Given the description of an element on the screen output the (x, y) to click on. 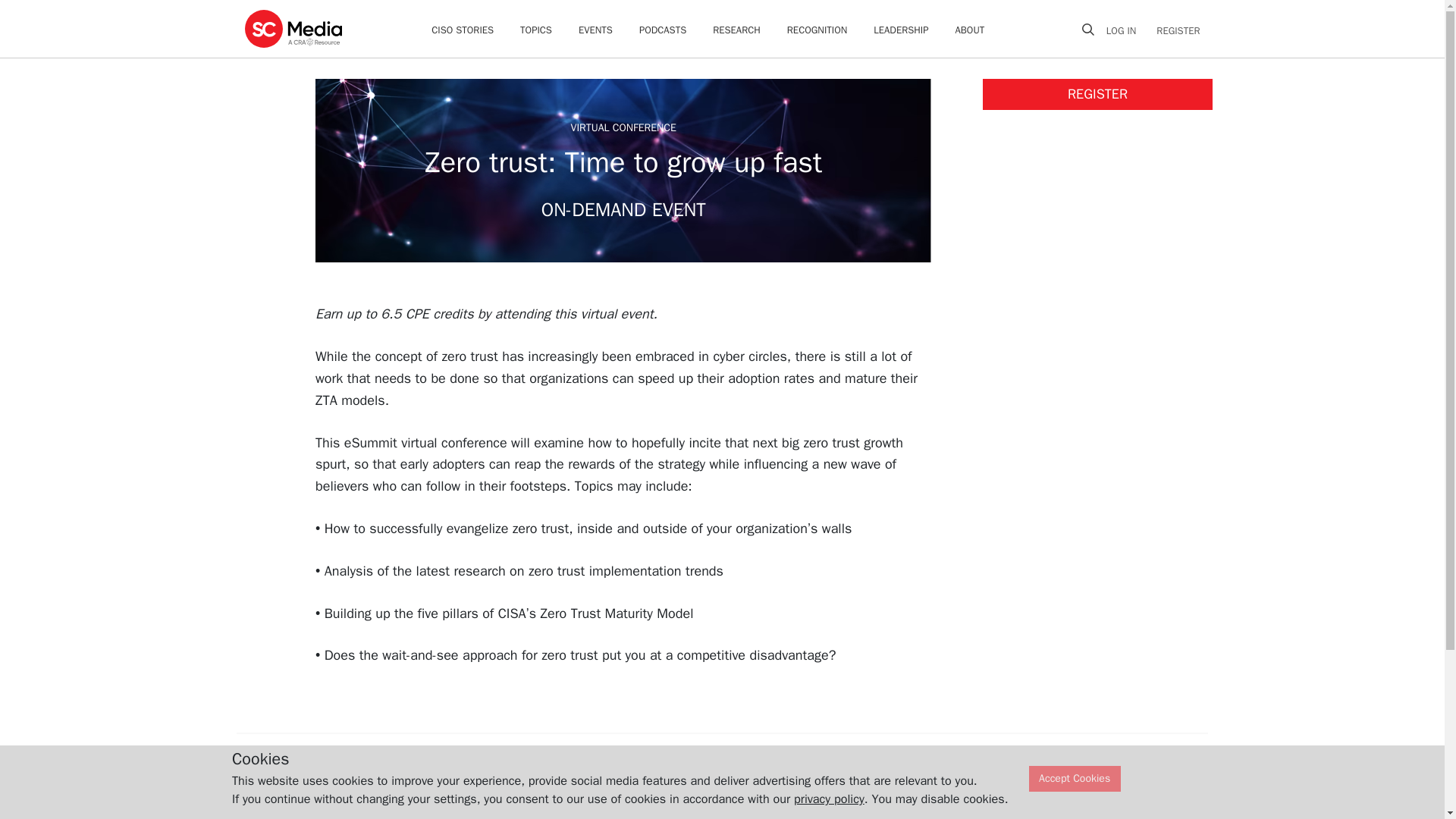
REGISTER (1097, 93)
LEADERSHIP (900, 30)
RESEARCH (736, 30)
PODCASTS (662, 30)
CISO STORIES (461, 30)
TOPICS (535, 30)
REGISTER (1173, 30)
SC Media (292, 27)
Accept Cookies (1075, 778)
RECOGNITION (817, 30)
ABOUT (970, 30)
EVENTS (595, 30)
privacy policy (828, 798)
LOG IN (1126, 30)
